Given the description of an element on the screen output the (x, y) to click on. 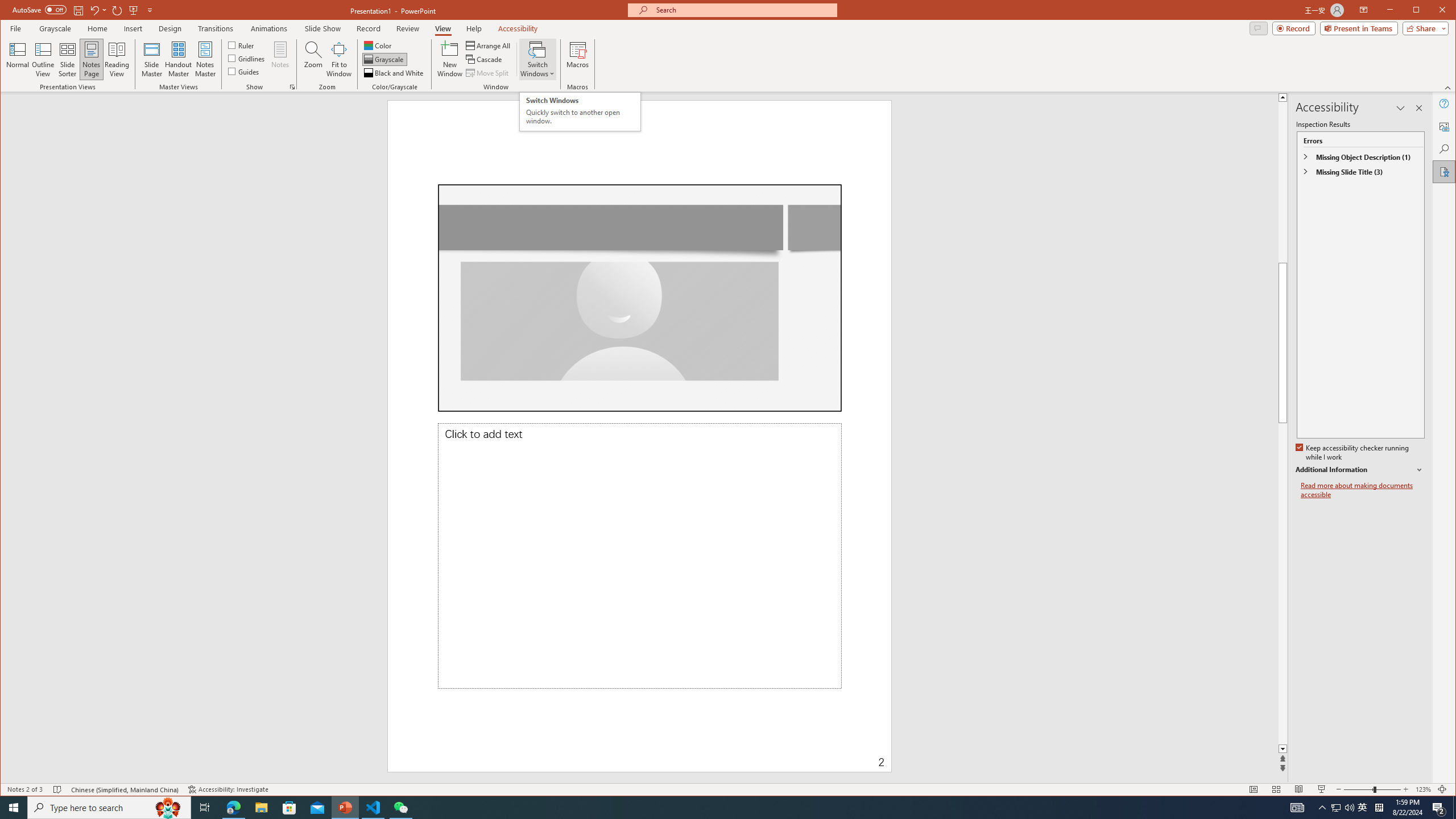
Grayscale (384, 59)
Handout Master (178, 59)
Arrange All (488, 45)
Macros (576, 59)
